Given the description of an element on the screen output the (x, y) to click on. 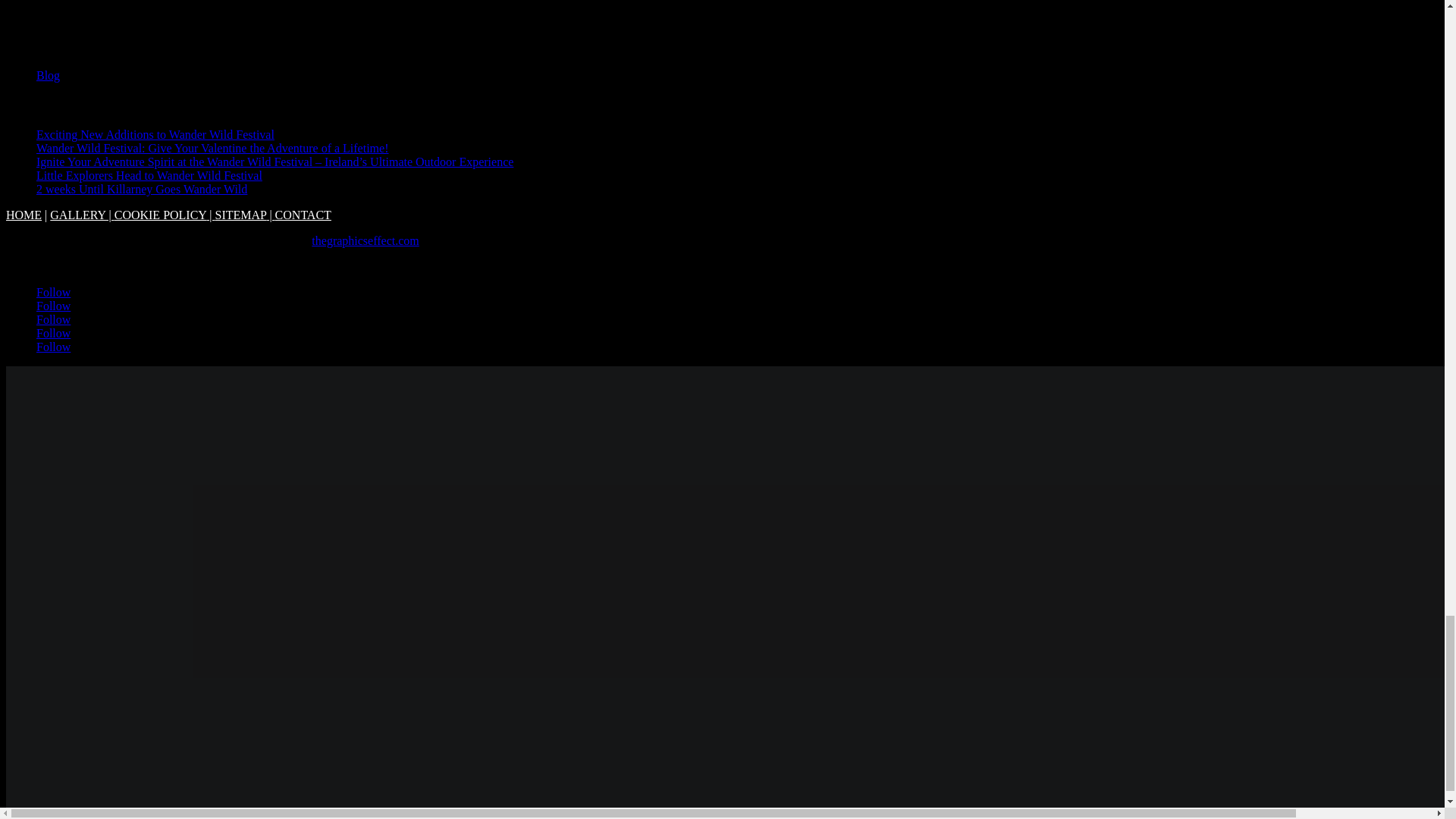
Blog (47, 74)
Follow on TikTok (52, 318)
Follow on Vimeo (52, 346)
Exciting New Additions to Wander Wild Festival (155, 133)
Follow on Facebook (52, 291)
Follow on Youtube (52, 332)
Follow on Instagram (52, 305)
